Given the description of an element on the screen output the (x, y) to click on. 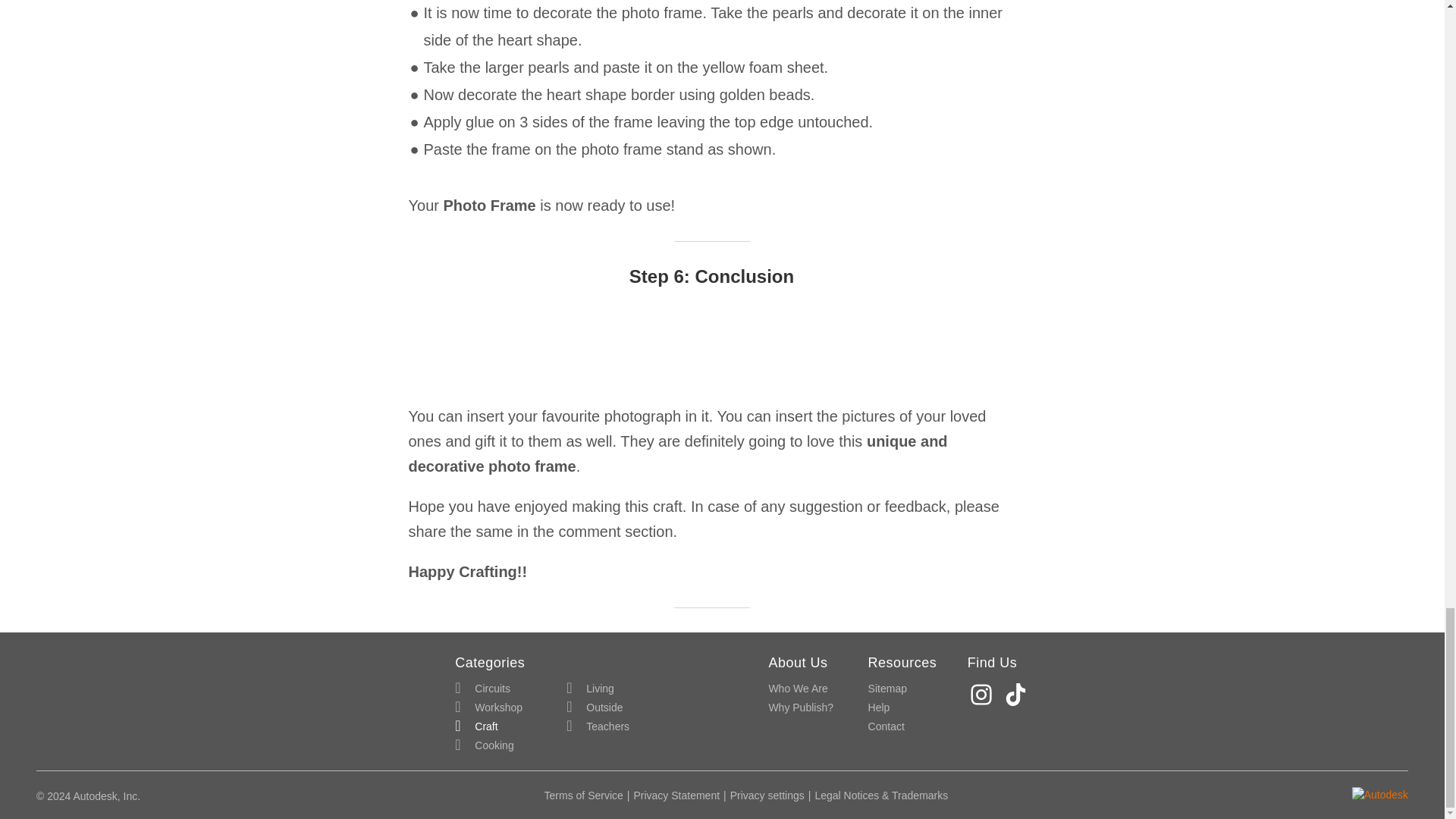
Teachers (597, 726)
Sitemap (887, 688)
TikTok (1018, 694)
Circuits (482, 688)
Privacy Statement (676, 795)
Outside (594, 707)
Help (878, 707)
Living (590, 688)
Contact (885, 726)
Privacy settings (767, 795)
